Given the description of an element on the screen output the (x, y) to click on. 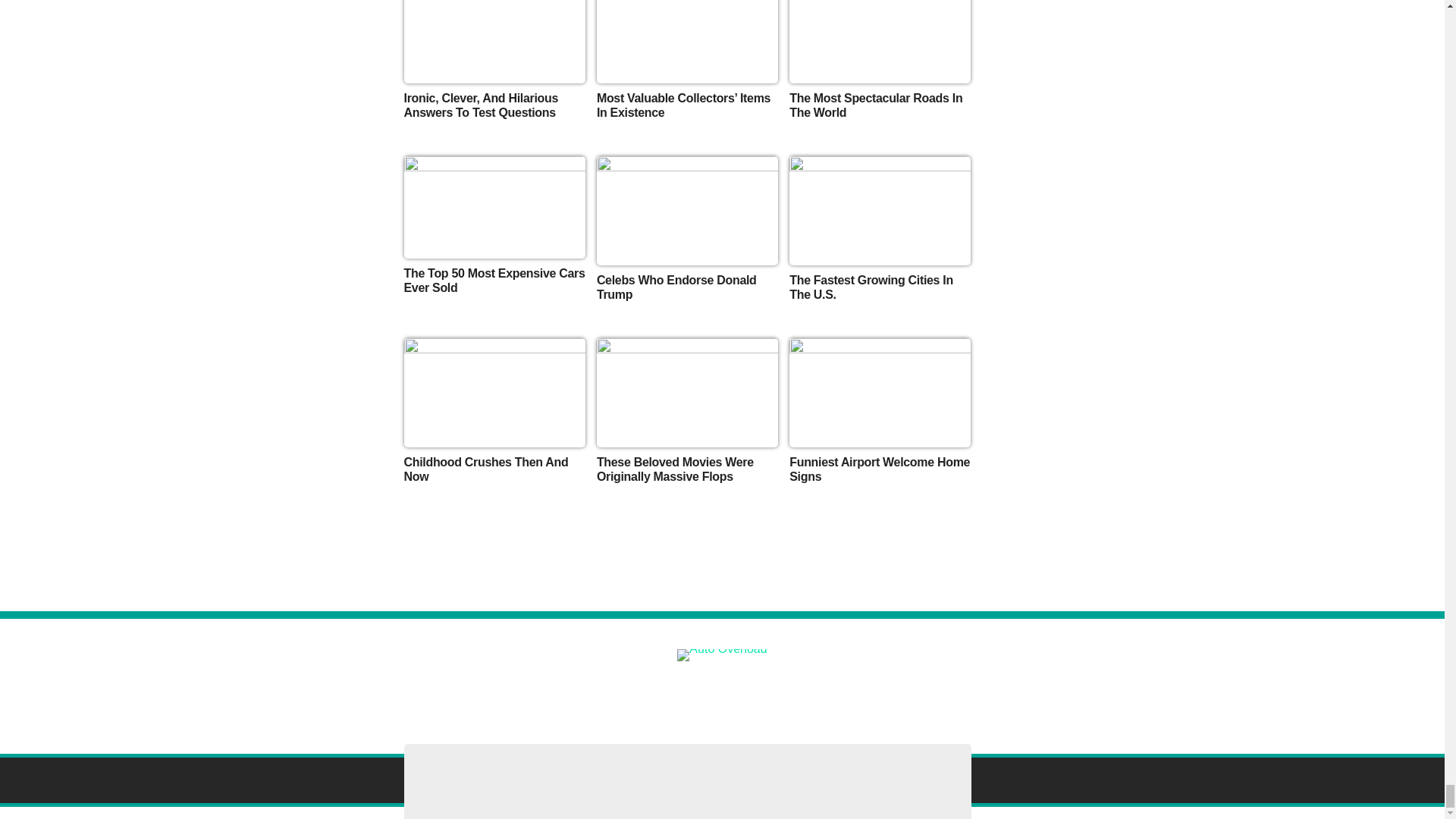
DO NOT SELL MY PERSONAL INFORMATION (736, 690)
DMCA NOTICE (578, 690)
EDITORIAL POLICIES (909, 690)
TERMS OF USE (1012, 690)
DISCLOSURES AND DISCLAIMERS (443, 690)
ABOUT US (319, 690)
